Given the description of an element on the screen output the (x, y) to click on. 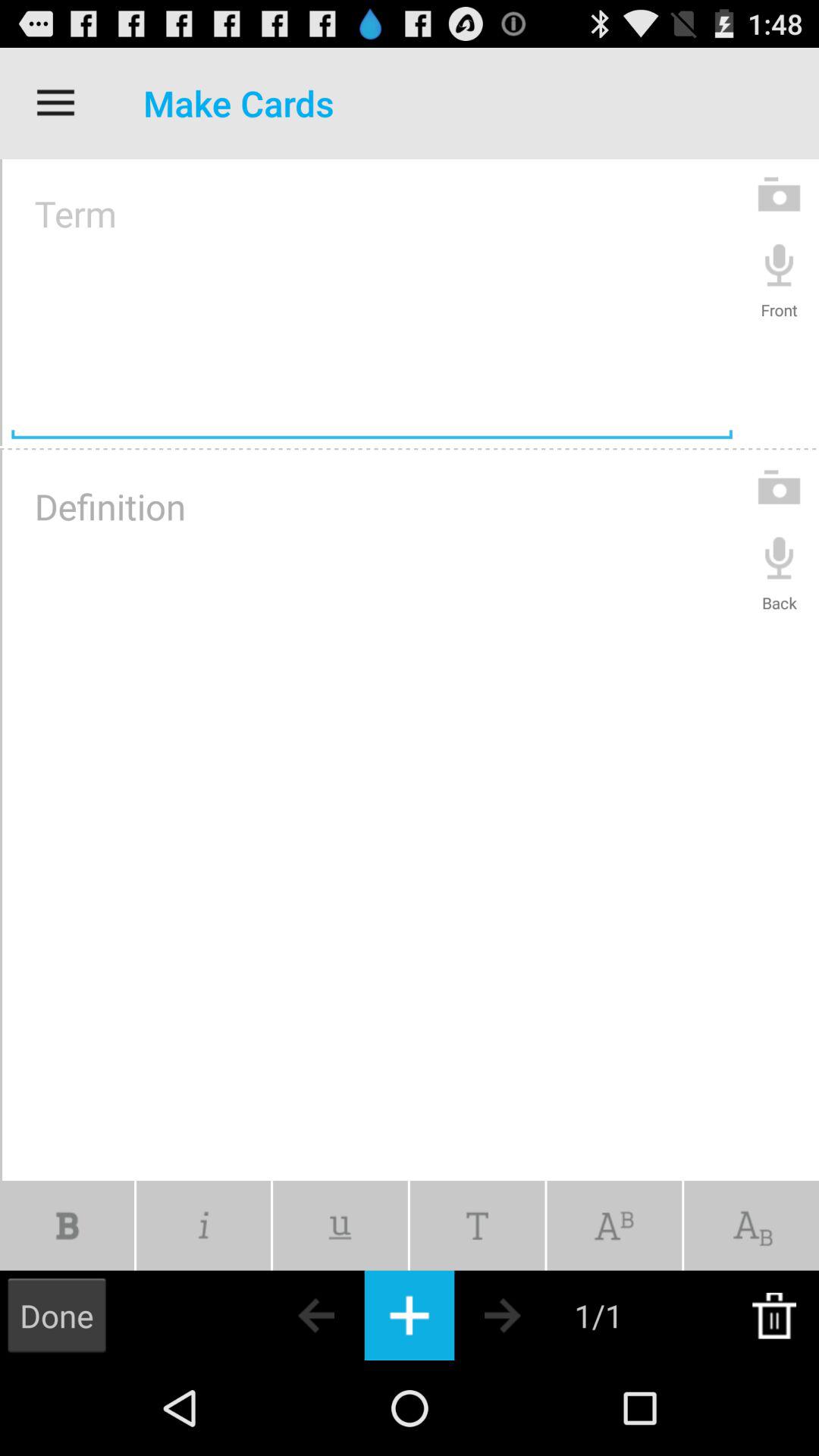
select done (56, 1315)
